Given the description of an element on the screen output the (x, y) to click on. 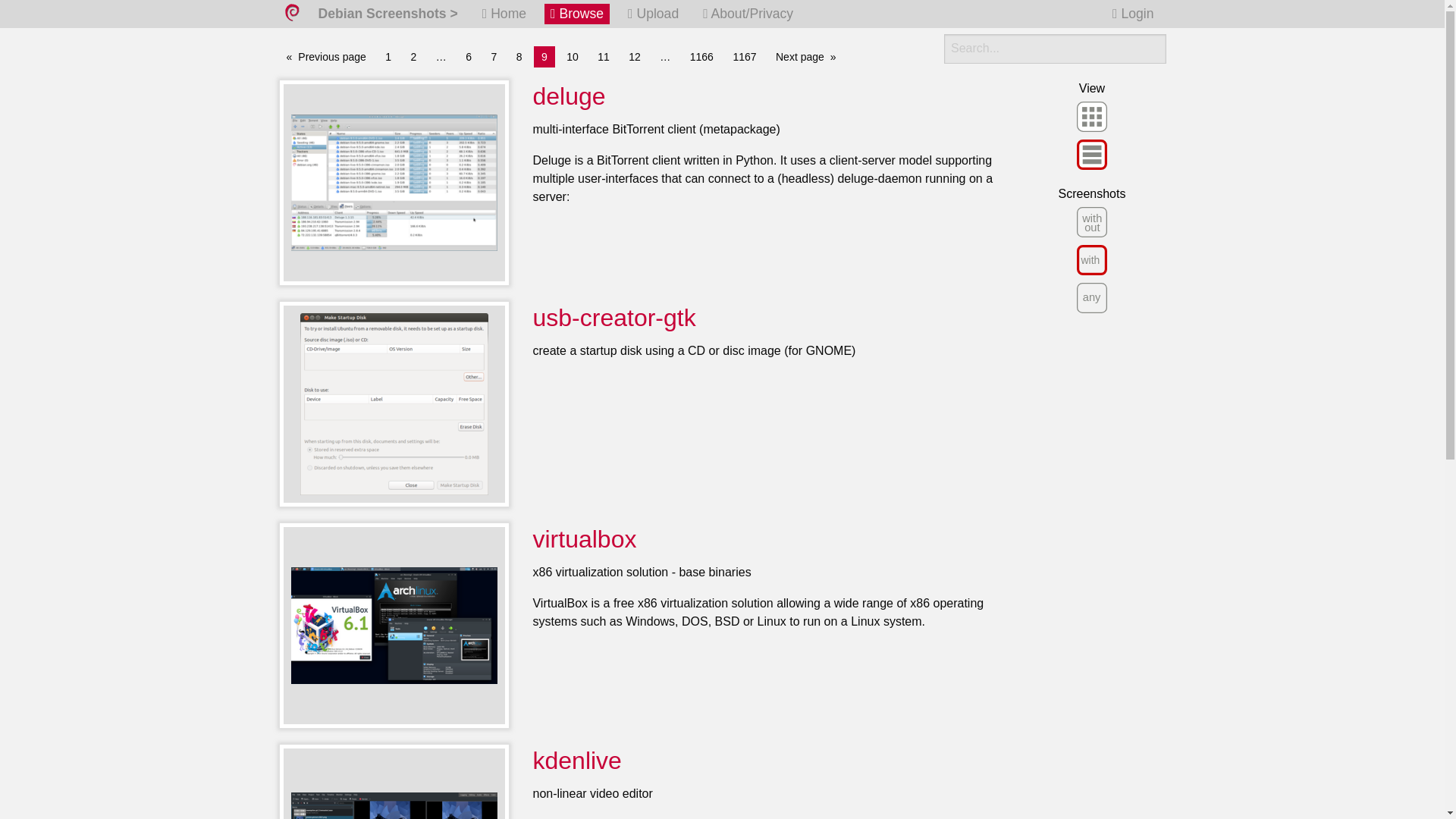
8 (518, 56)
usb-creator-gtk (613, 317)
kdenlive (576, 759)
1167 (743, 56)
deluge (568, 95)
2 (414, 56)
11 (603, 56)
12 (634, 56)
Previous page (326, 56)
1166 (701, 56)
